Given the description of an element on the screen output the (x, y) to click on. 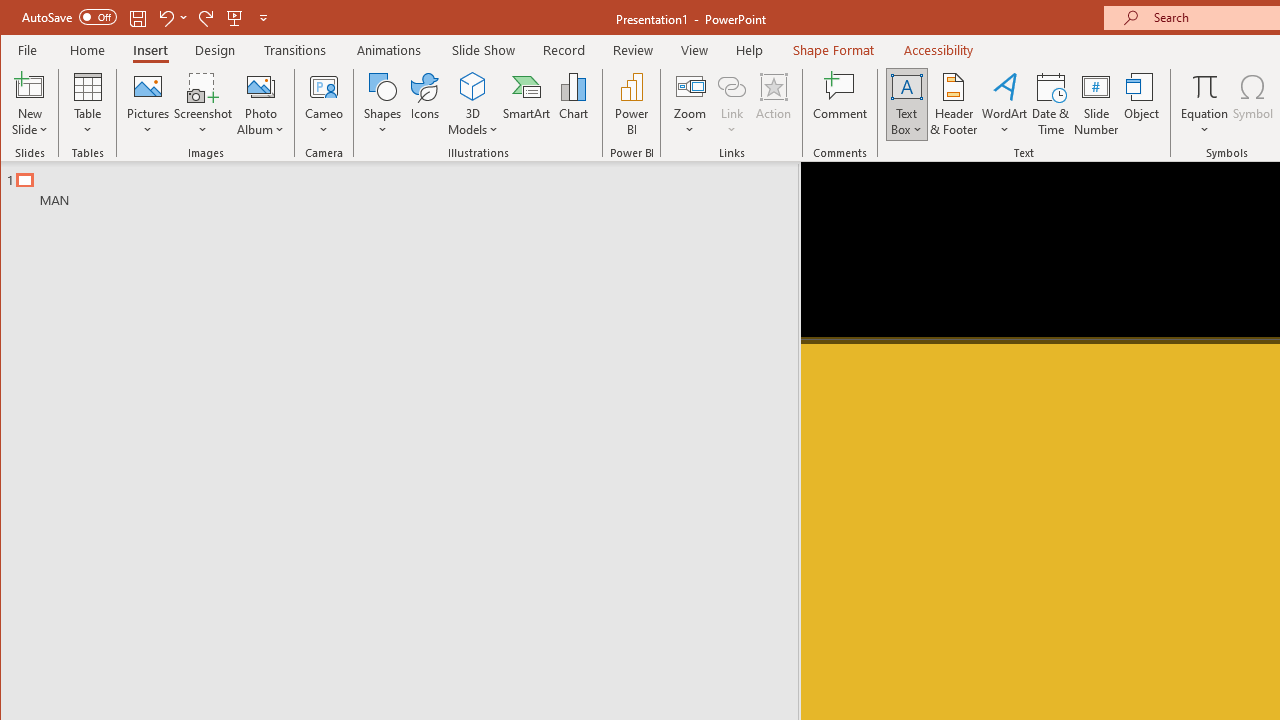
Action (773, 104)
SmartArt... (526, 104)
Header & Footer... (954, 104)
Chart... (573, 104)
WordArt (1005, 104)
Photo Album... (260, 104)
